Given the description of an element on the screen output the (x, y) to click on. 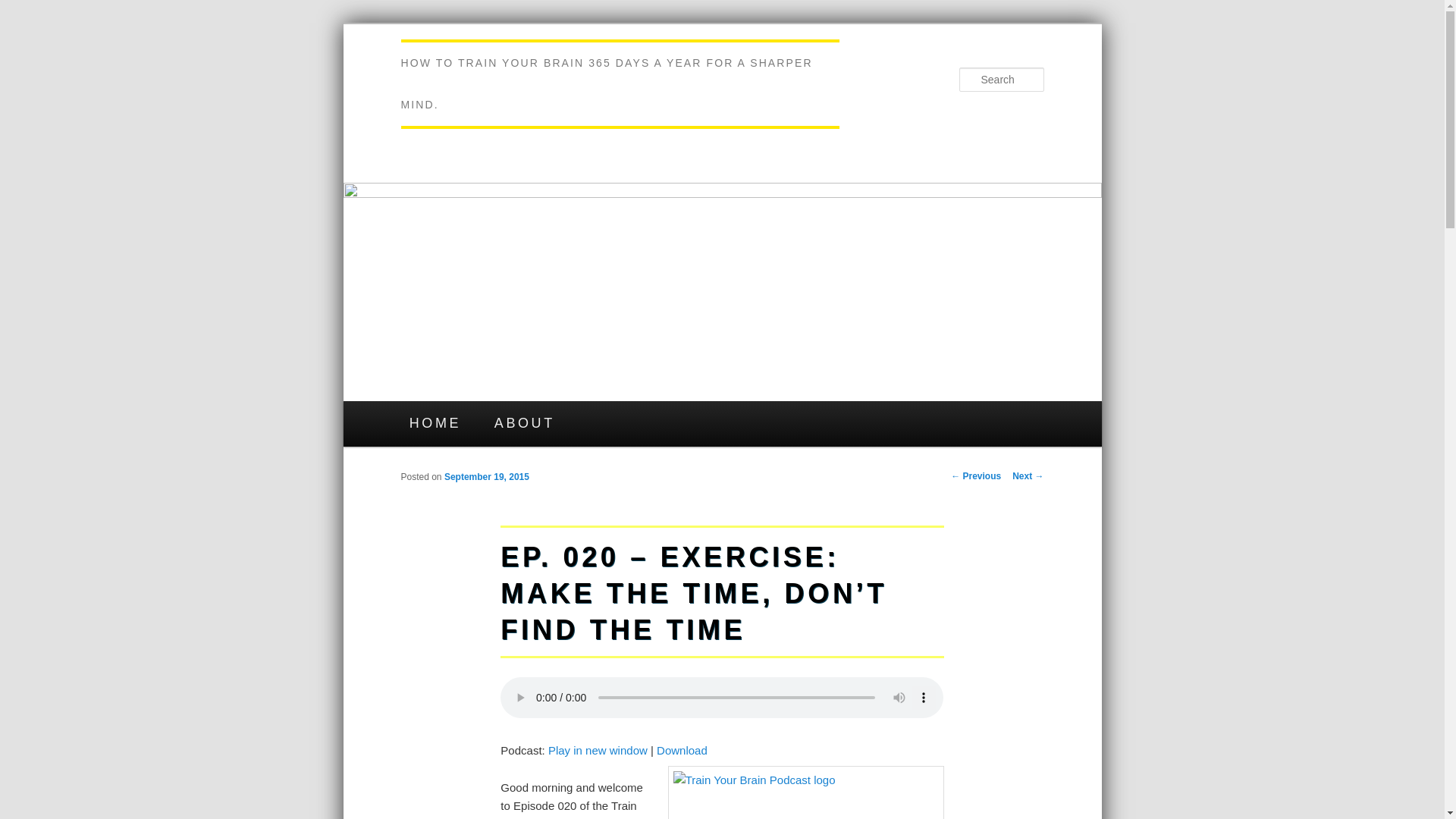
12:01 am (486, 476)
HOME (435, 423)
ABOUT (524, 423)
Play in new window (597, 749)
Play in new window (597, 749)
Download (681, 749)
Download (681, 749)
Search (24, 8)
September 19, 2015 (486, 476)
